Given the description of an element on the screen output the (x, y) to click on. 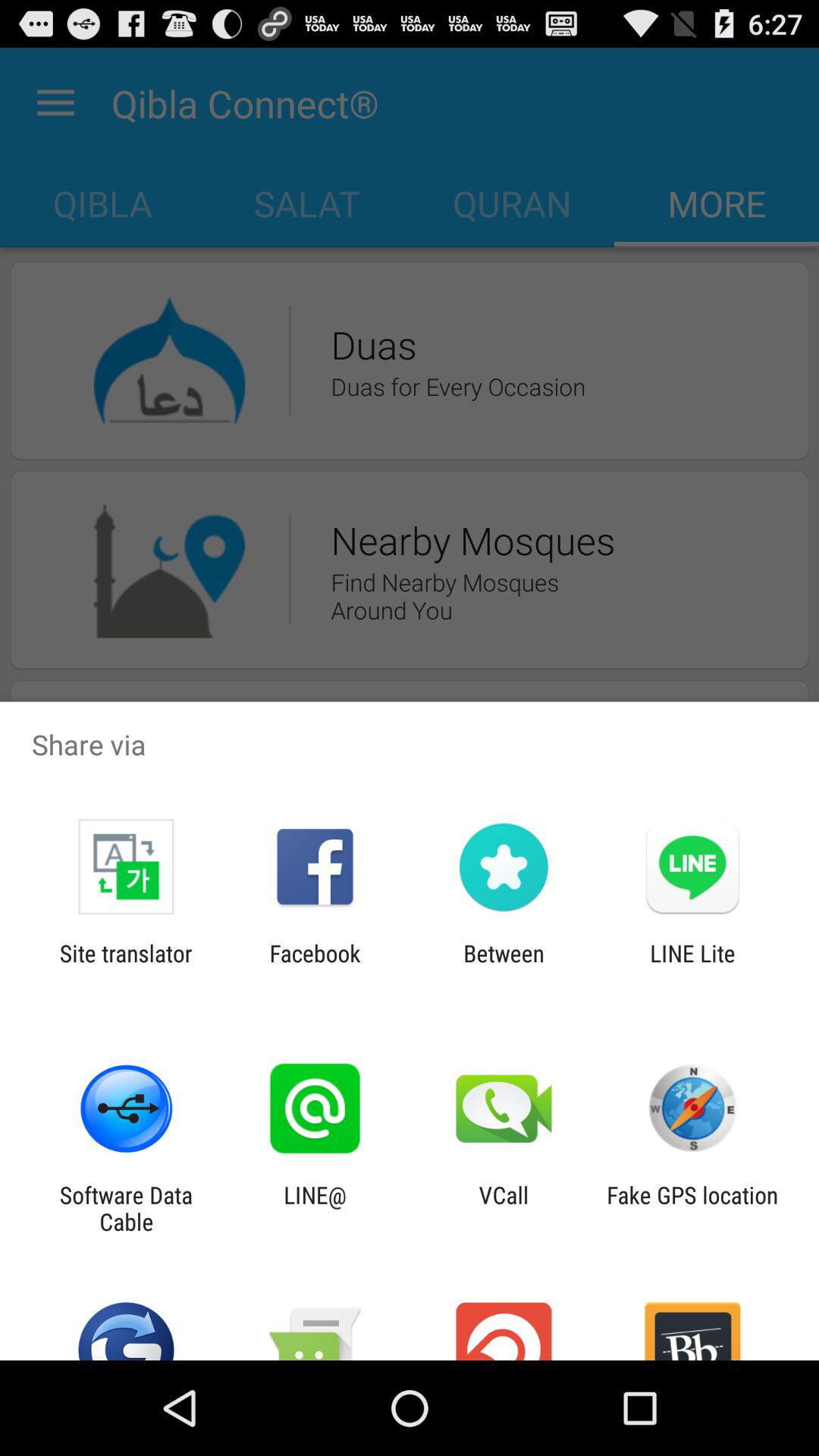
choose the app next to line@ app (125, 1208)
